Given the description of an element on the screen output the (x, y) to click on. 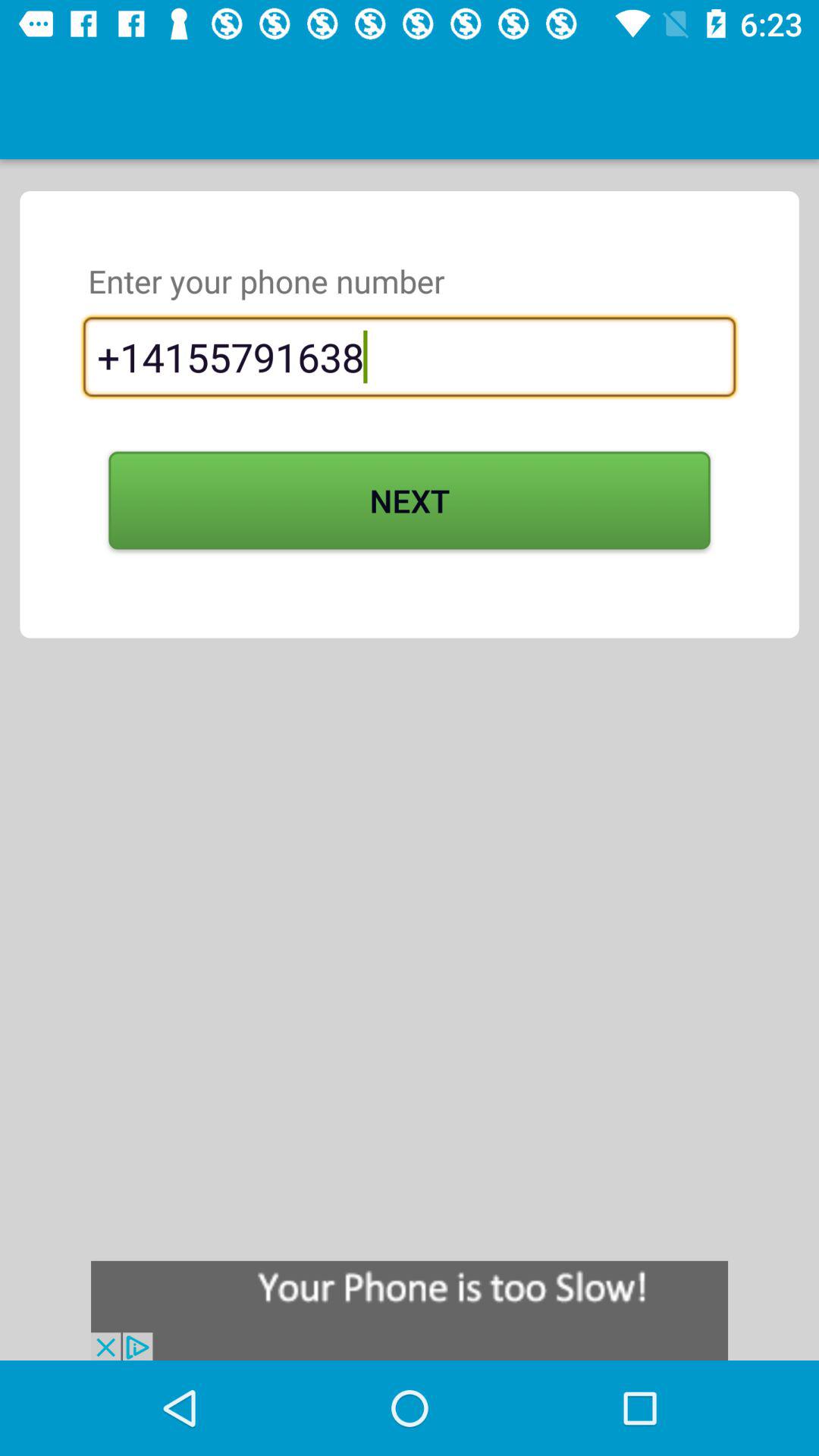
advertisement banner (409, 1310)
